Given the description of an element on the screen output the (x, y) to click on. 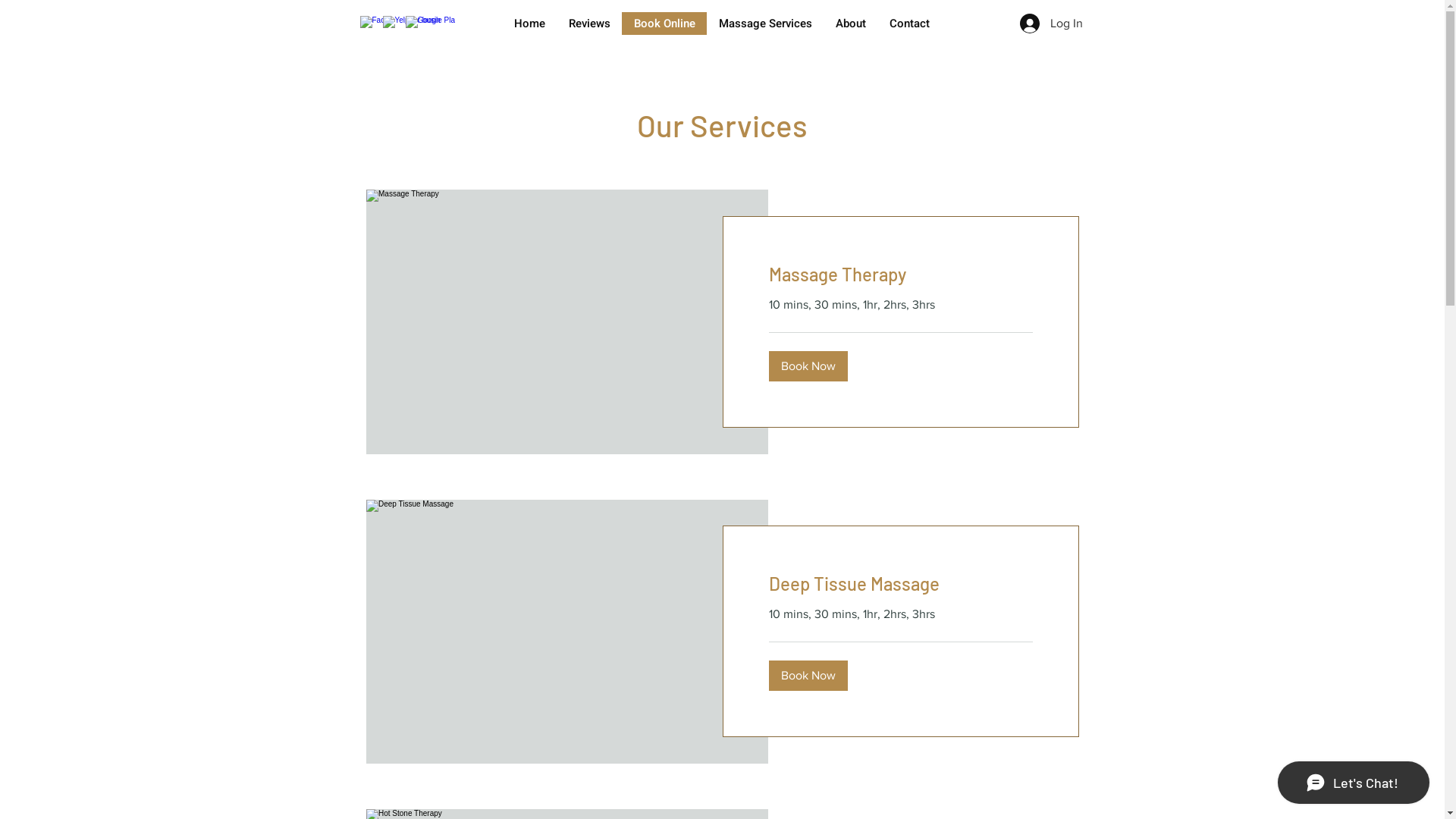
Home Element type: text (529, 23)
Log In Element type: text (1050, 23)
Reviews Element type: text (588, 23)
Massage Services Element type: text (764, 23)
About Element type: text (850, 23)
Contact Element type: text (909, 23)
Book Online Element type: text (663, 23)
Book Now Element type: text (807, 366)
Massage Therapy Element type: text (900, 274)
Book Now Element type: text (807, 675)
Deep Tissue Massage Element type: text (900, 583)
